Given the description of an element on the screen output the (x, y) to click on. 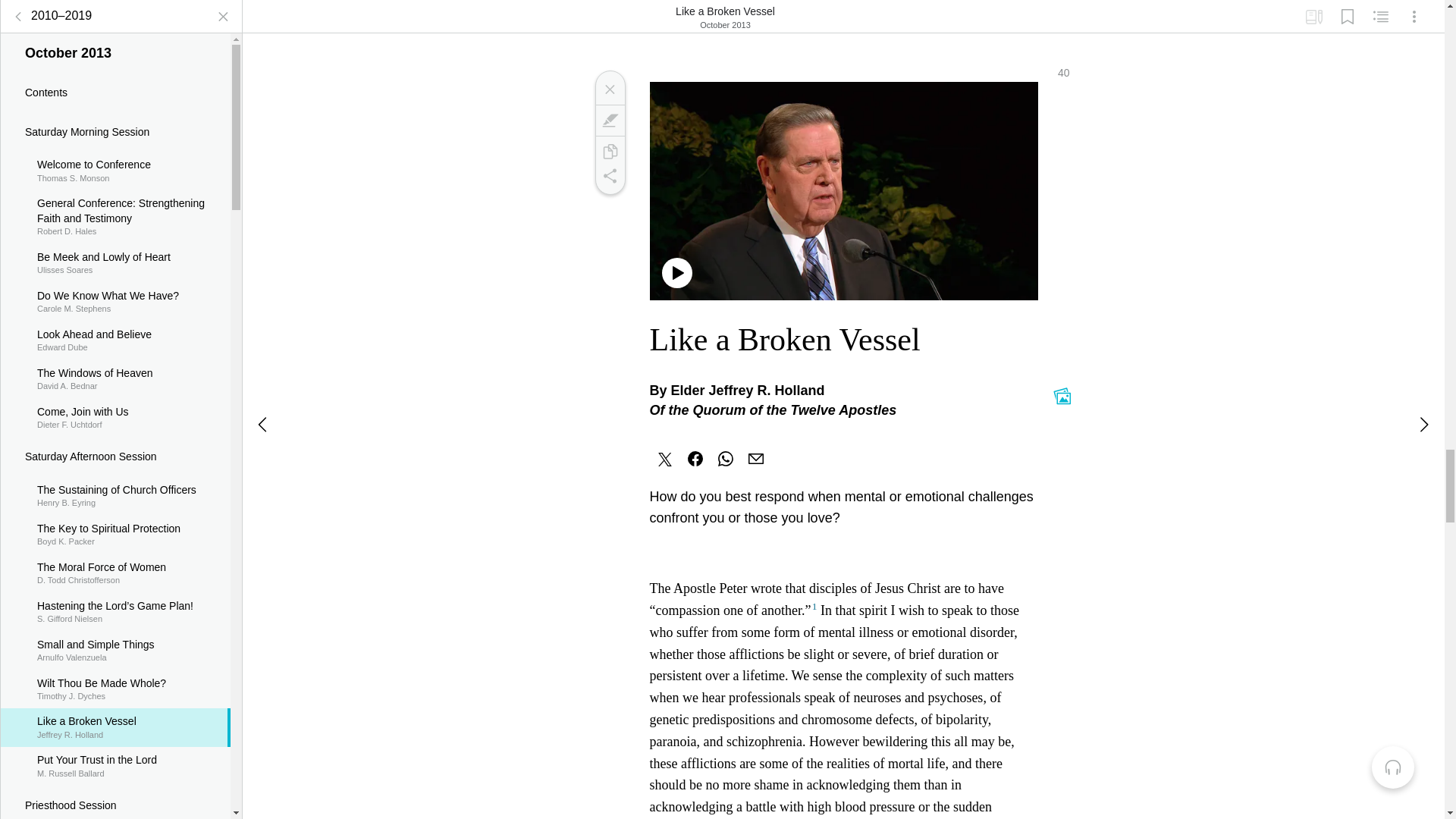
Priesthood Session (115, 793)
Bookmarks (115, 329)
Study Sets (1347, 11)
Options (1313, 11)
Contents (1414, 11)
Table of Contents (115, 80)
Mark (17, 8)
Saturday Afternoon Session (115, 406)
